Given the description of an element on the screen output the (x, y) to click on. 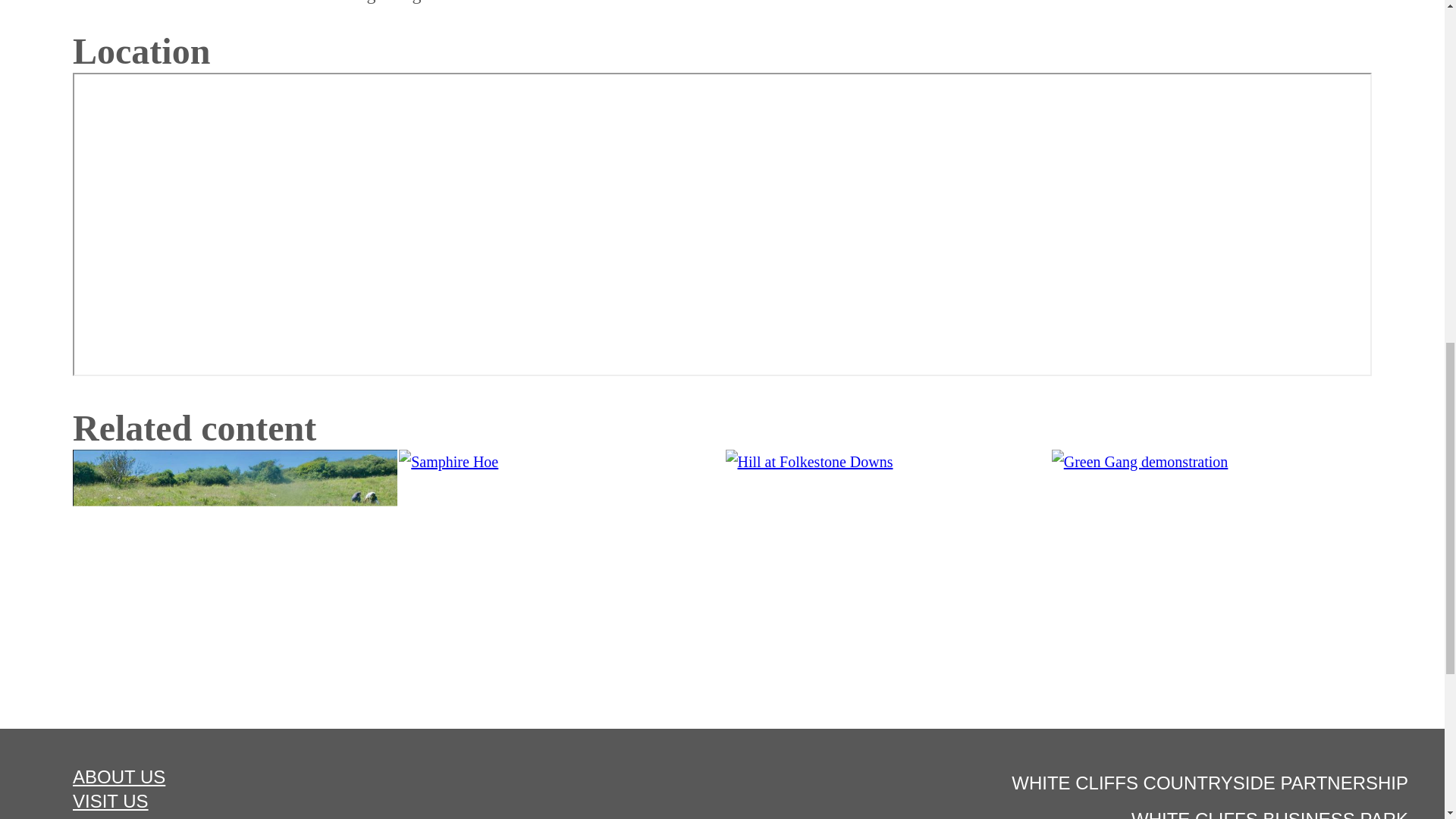
Volunteer (234, 570)
What's On (1213, 570)
VISIT US (360, 801)
Folkestone Downs (887, 570)
ABOUT US (360, 776)
Samphire Hoe (560, 570)
